Given the description of an element on the screen output the (x, y) to click on. 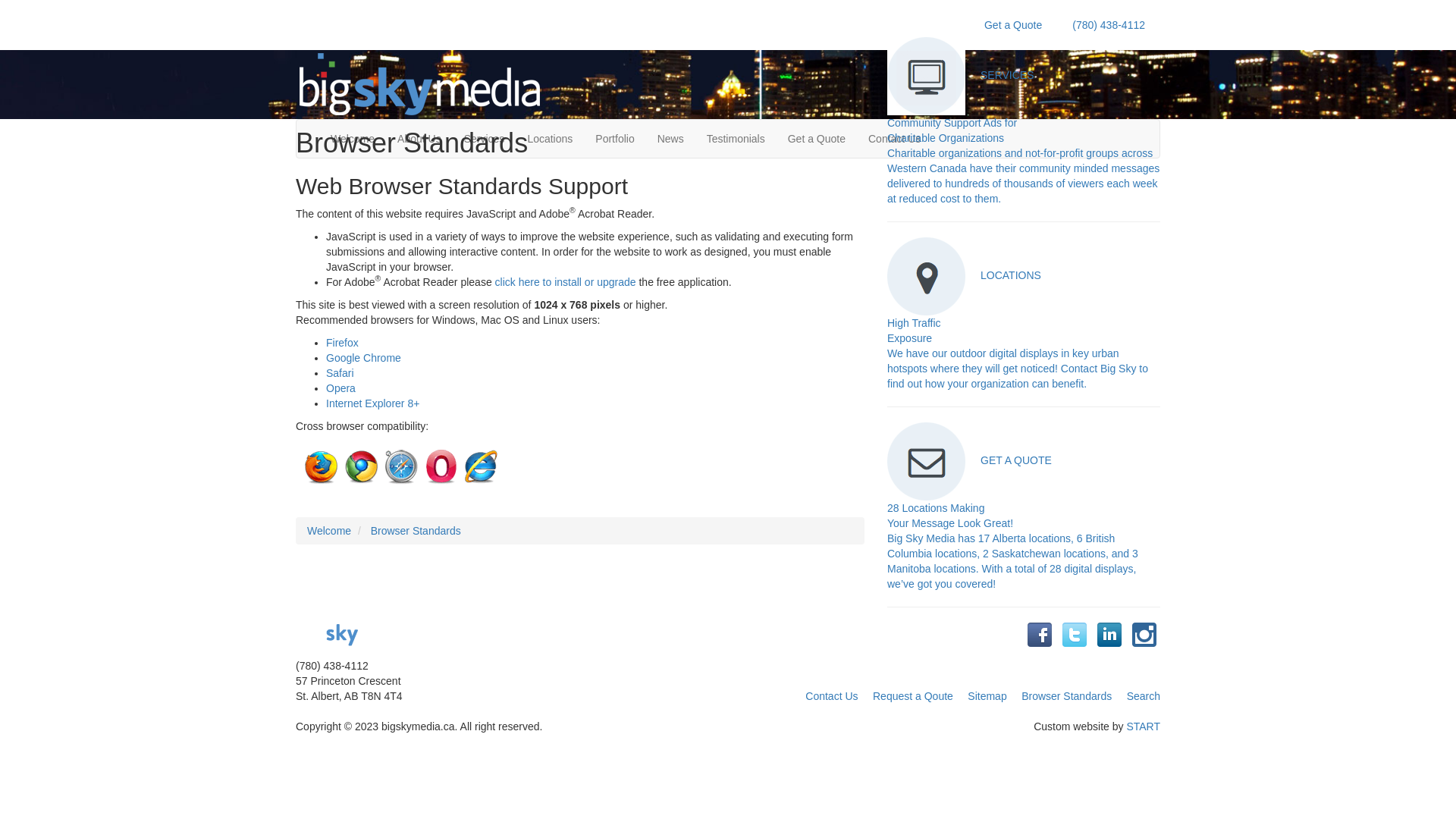
Contact Us Element type: text (831, 696)
Locations Element type: text (549, 138)
Firefox Element type: text (342, 342)
Contact Us Element type: text (893, 138)
News Element type: text (670, 138)
Browser Standards Element type: text (415, 530)
Welcome Element type: text (352, 138)
Testimonials Element type: text (735, 138)
click here to install or upgrade Element type: text (565, 282)
Google Chrome Element type: text (363, 357)
Get a Quote Element type: text (816, 138)
Search Element type: text (1143, 696)
(780) 438-4112 Element type: text (1108, 25)
Portfolio Element type: text (614, 138)
Internet Explorer 8+ Element type: text (372, 403)
START Element type: text (1143, 726)
Request a Qoute Element type: text (912, 696)
Welcome Element type: text (329, 530)
Services Element type: text (484, 138)
Safari Element type: text (340, 373)
Sitemap Element type: text (986, 696)
Opera Element type: text (340, 388)
Browser Standards Element type: text (1066, 696)
About Us Element type: text (418, 138)
Get a Quote Element type: text (1012, 25)
